Given the description of an element on the screen output the (x, y) to click on. 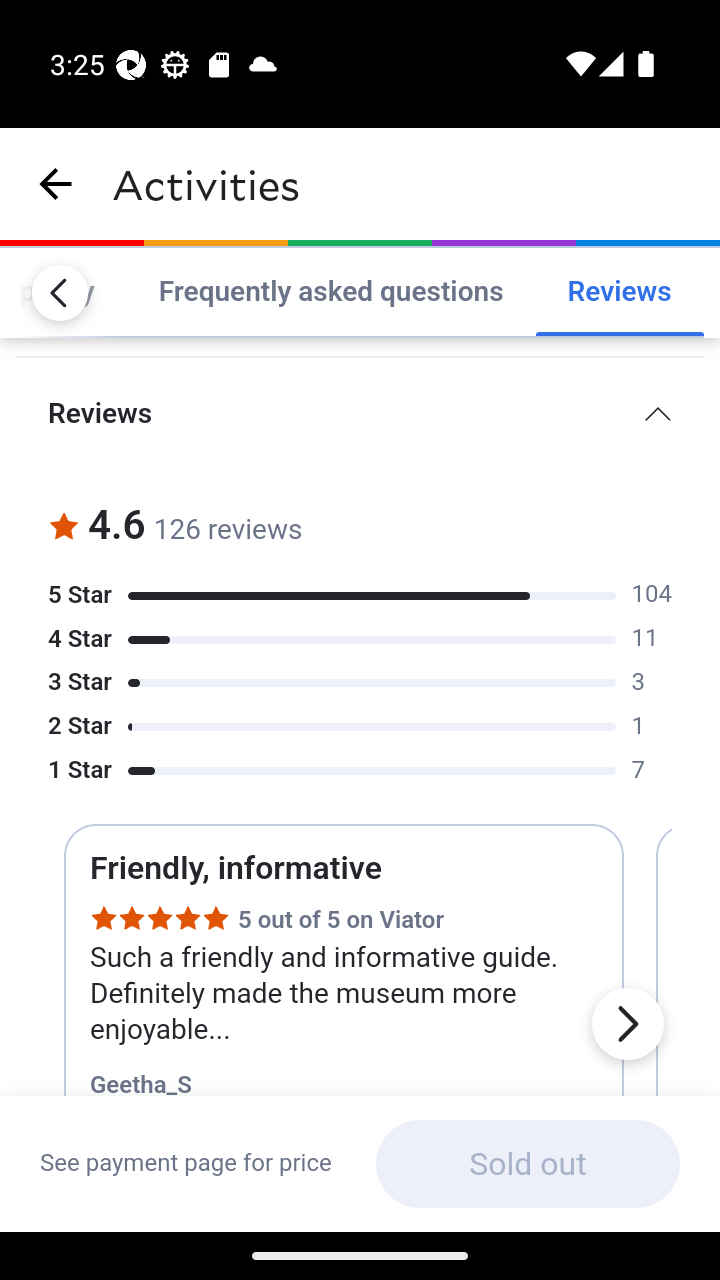
navigation_button (56, 184)
Frequently asked questions (330, 292)
Reviews (619, 292)
Reviews (359, 414)
Next (627, 1025)
Sold out (527, 1164)
